Given the description of an element on the screen output the (x, y) to click on. 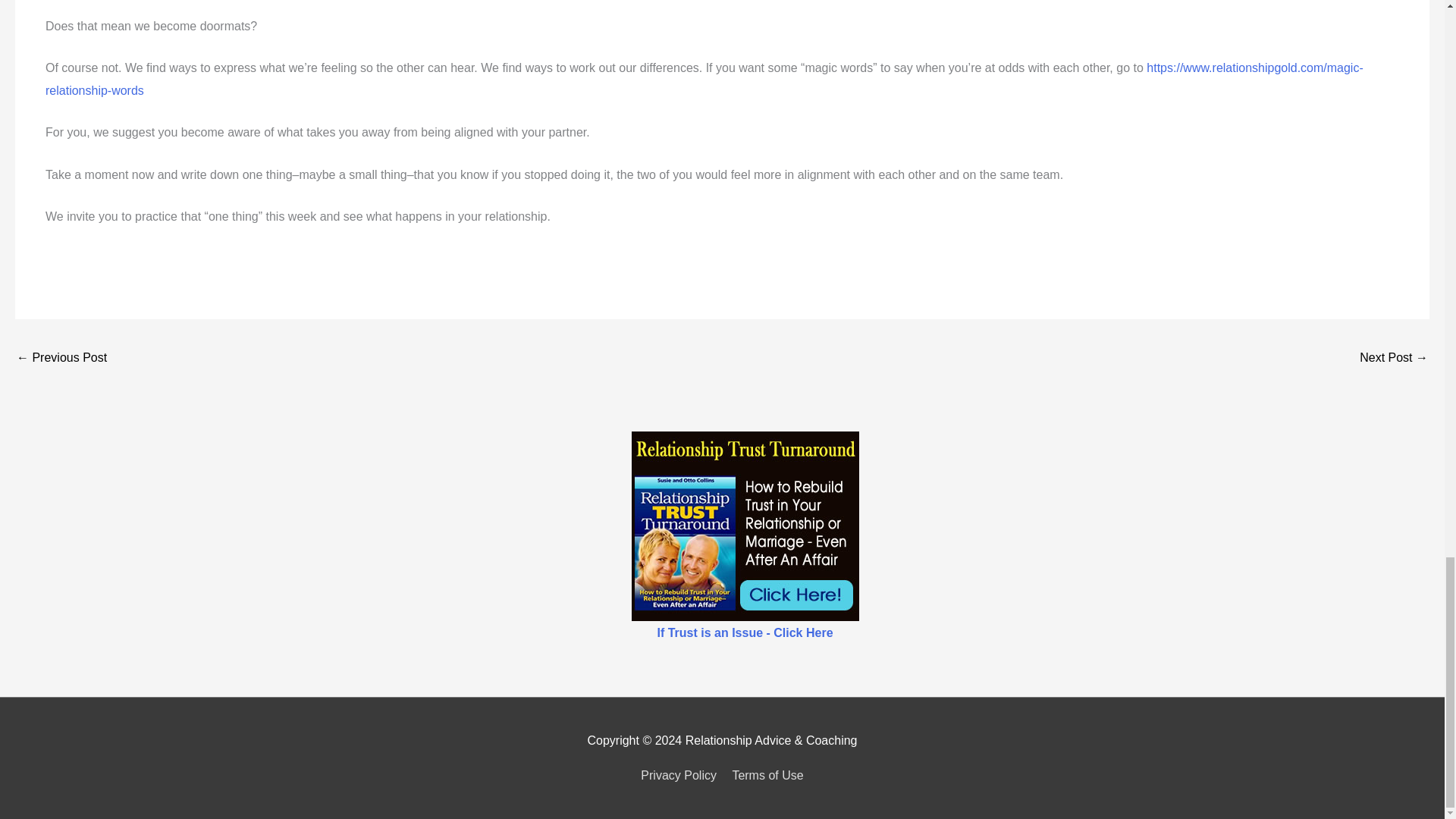
Magic Relationship Words by Susie and Otto Collins (703, 79)
If Trust is an Issue - Click Here (744, 632)
Privacy Policy (681, 775)
Terms of Use (764, 775)
